Given the description of an element on the screen output the (x, y) to click on. 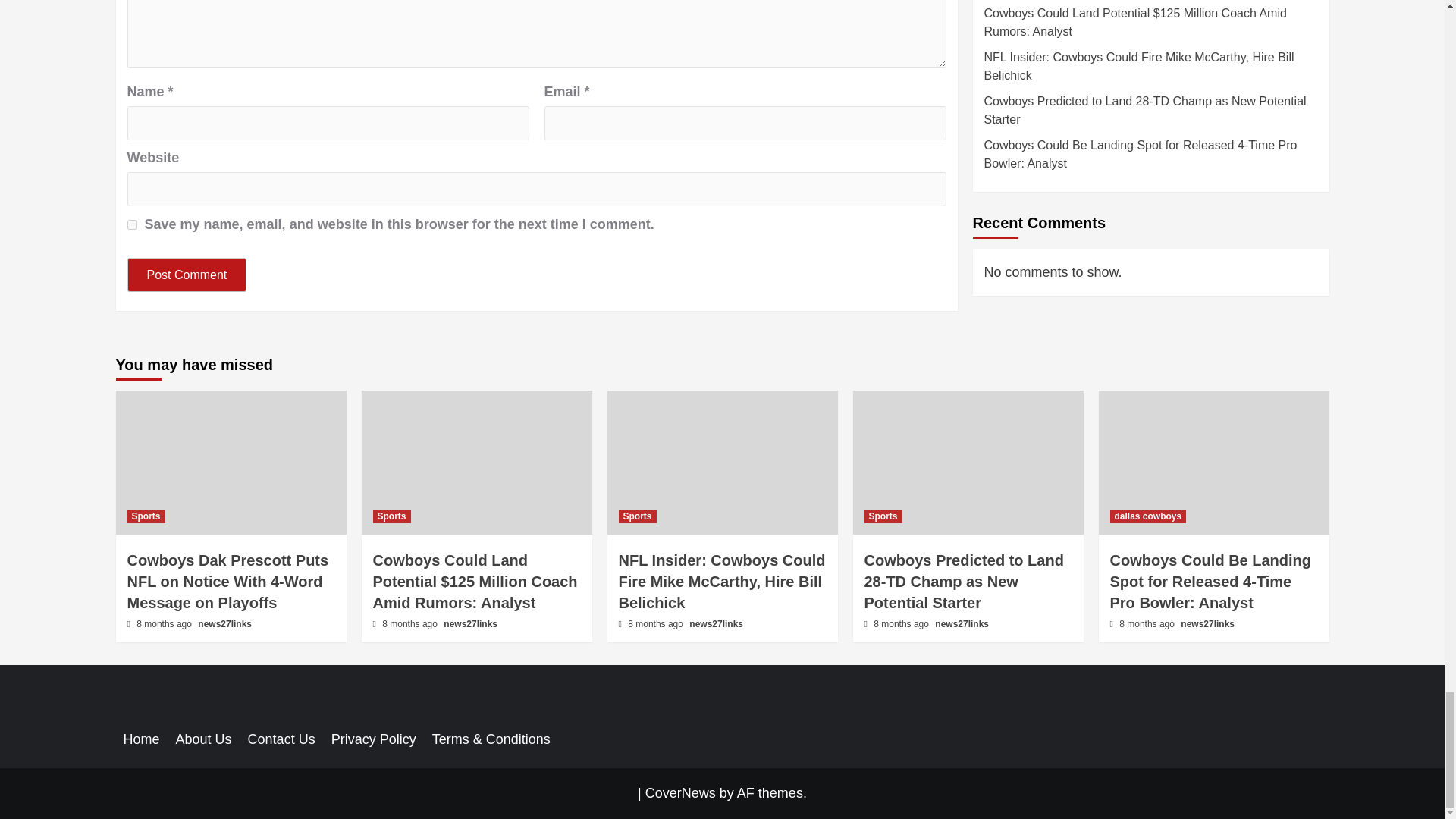
8 months ago (164, 624)
yes (132, 225)
Sports (391, 516)
Post Comment (187, 274)
news27links (224, 624)
Post Comment (187, 274)
Sports (146, 516)
